Given the description of an element on the screen output the (x, y) to click on. 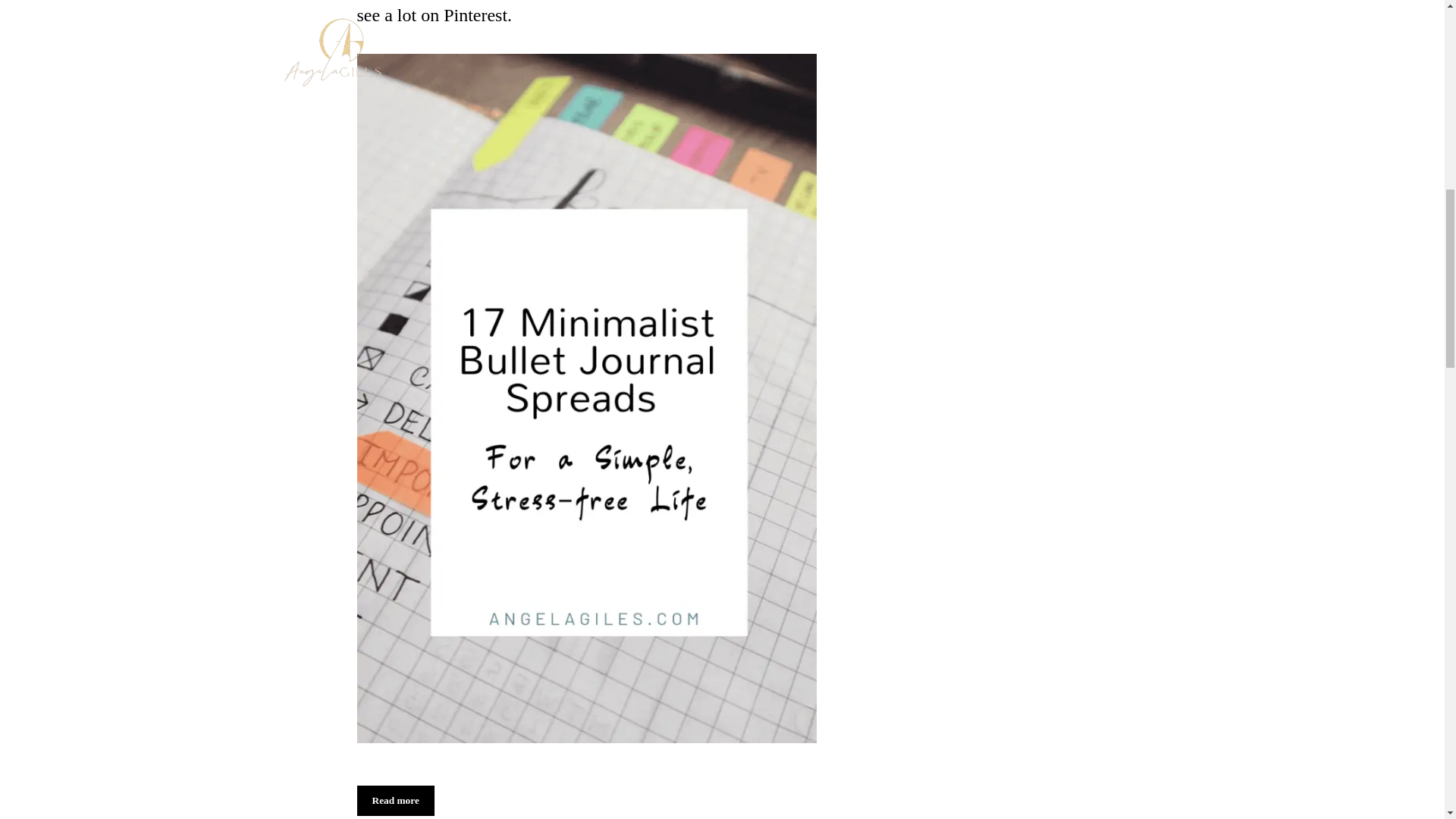
Read more (394, 800)
